Given the description of an element on the screen output the (x, y) to click on. 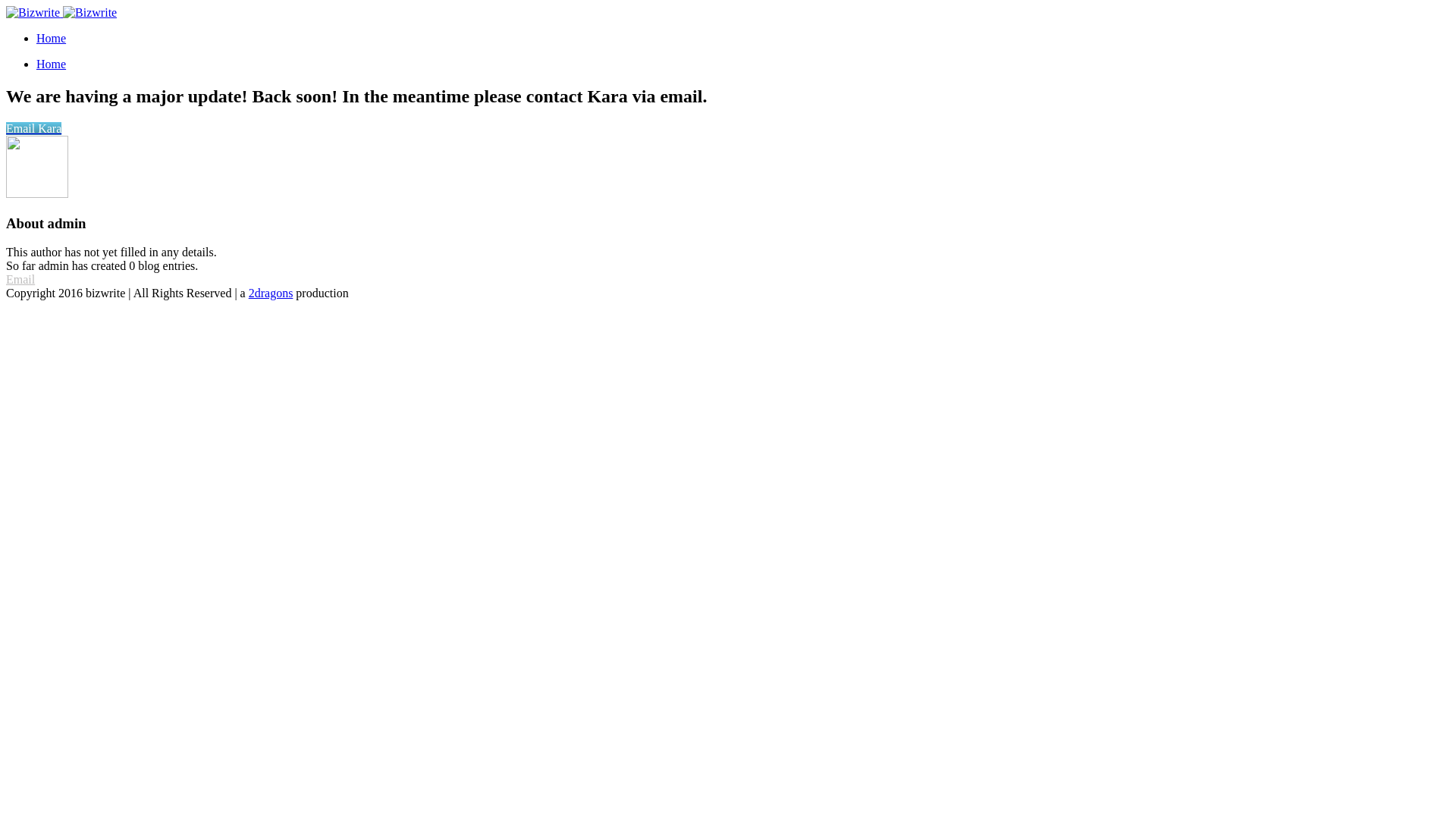
2dragons Element type: text (270, 292)
Email Element type: text (20, 279)
Email Kara Element type: text (33, 128)
Home Element type: text (50, 63)
Home Element type: text (50, 37)
